Given the description of an element on the screen output the (x, y) to click on. 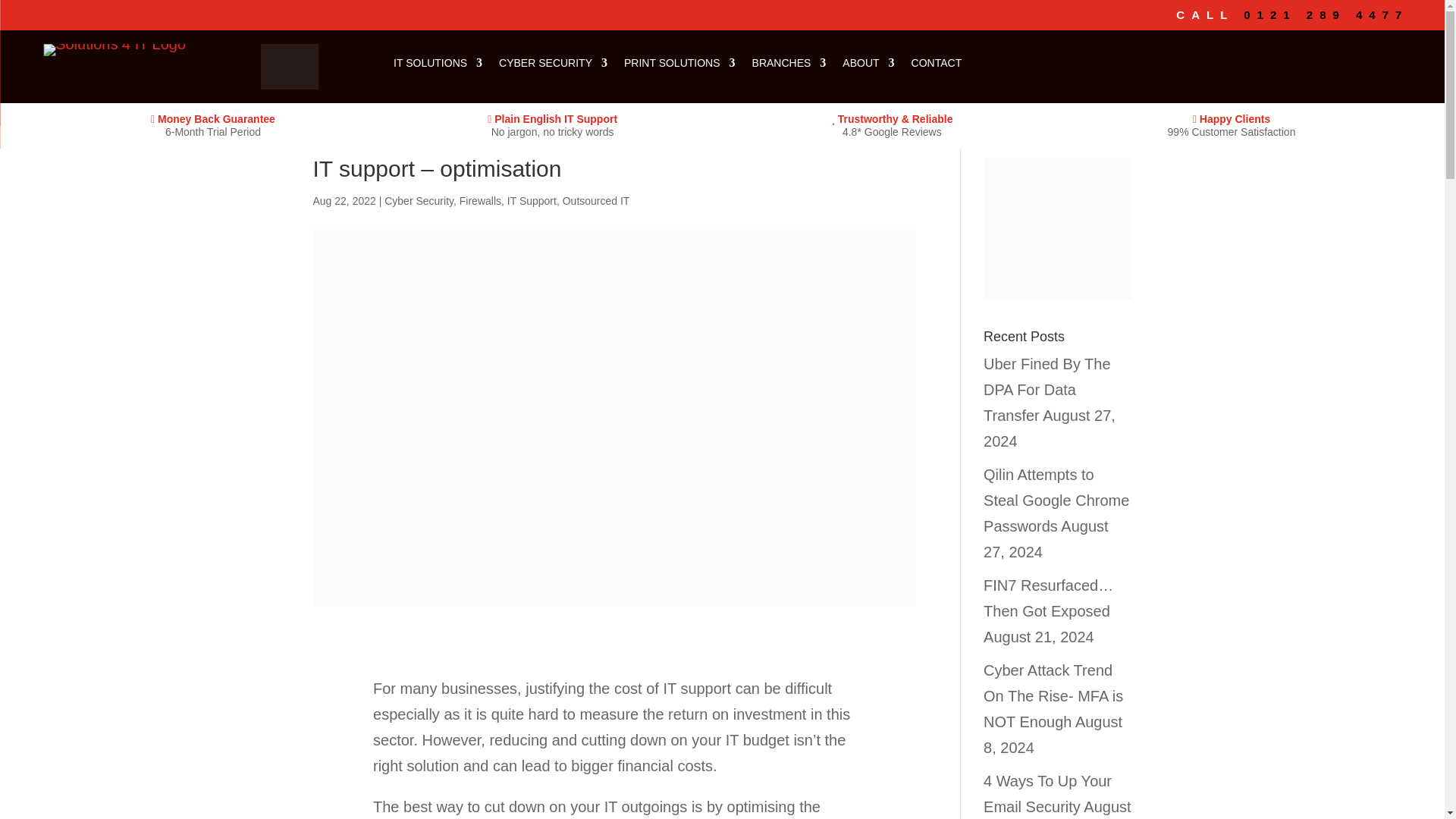
25-year-logo-wo (257, 78)
PRINT SOLUTIONS (587, 65)
25-year-logo-wo (289, 66)
solutions4it-45pixelshigh (114, 50)
solutions4it-45pixelshigh (128, 60)
0121 289 4477 (1325, 14)
BRANCHES (696, 65)
CYBER SECURITY (460, 65)
25-year-logo-wo (81, 86)
IT SOLUTIONS (345, 65)
